Given the description of an element on the screen output the (x, y) to click on. 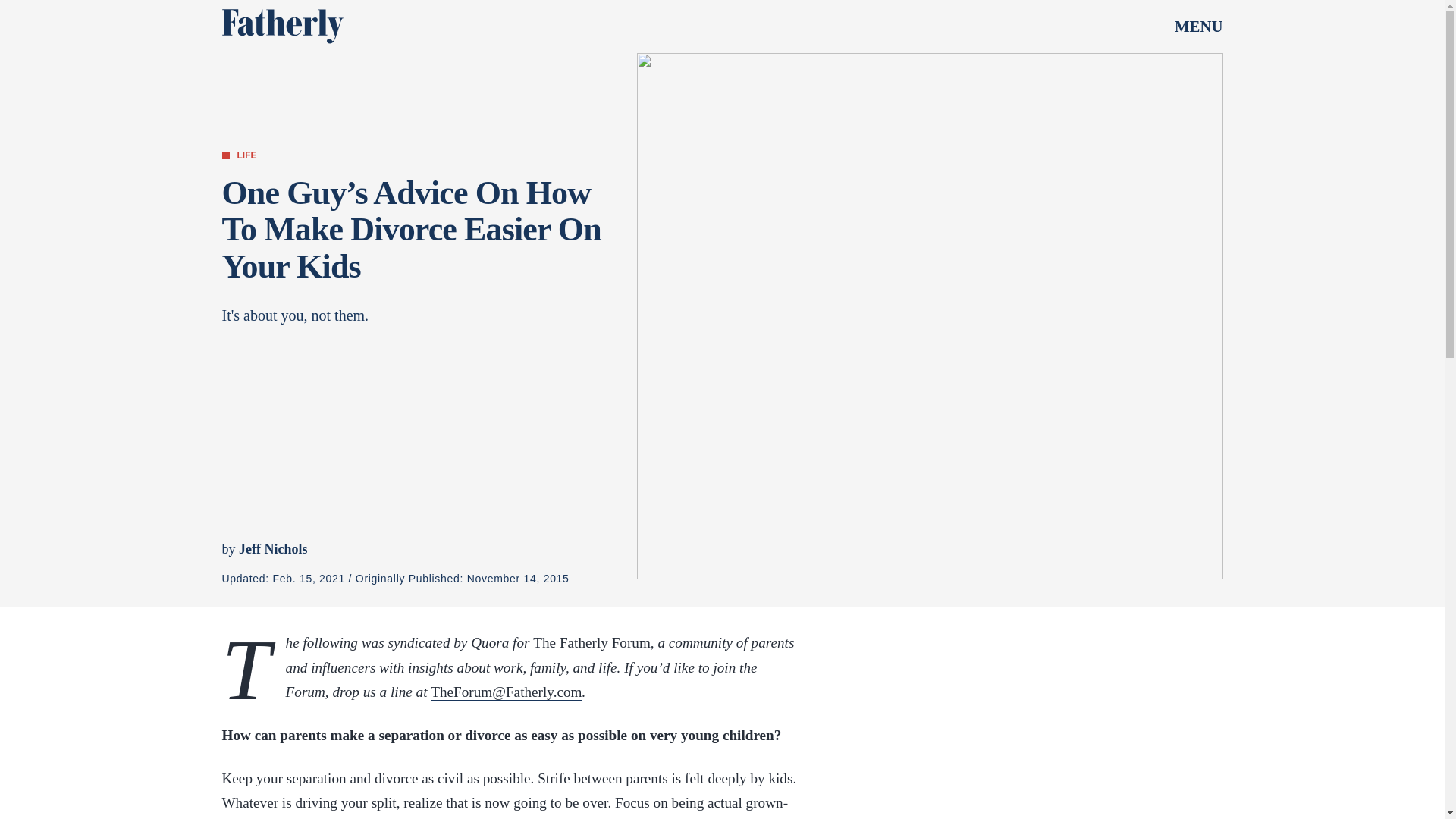
Fatherly (281, 26)
Quora (489, 642)
The Fatherly Forum (591, 642)
